Given the description of an element on the screen output the (x, y) to click on. 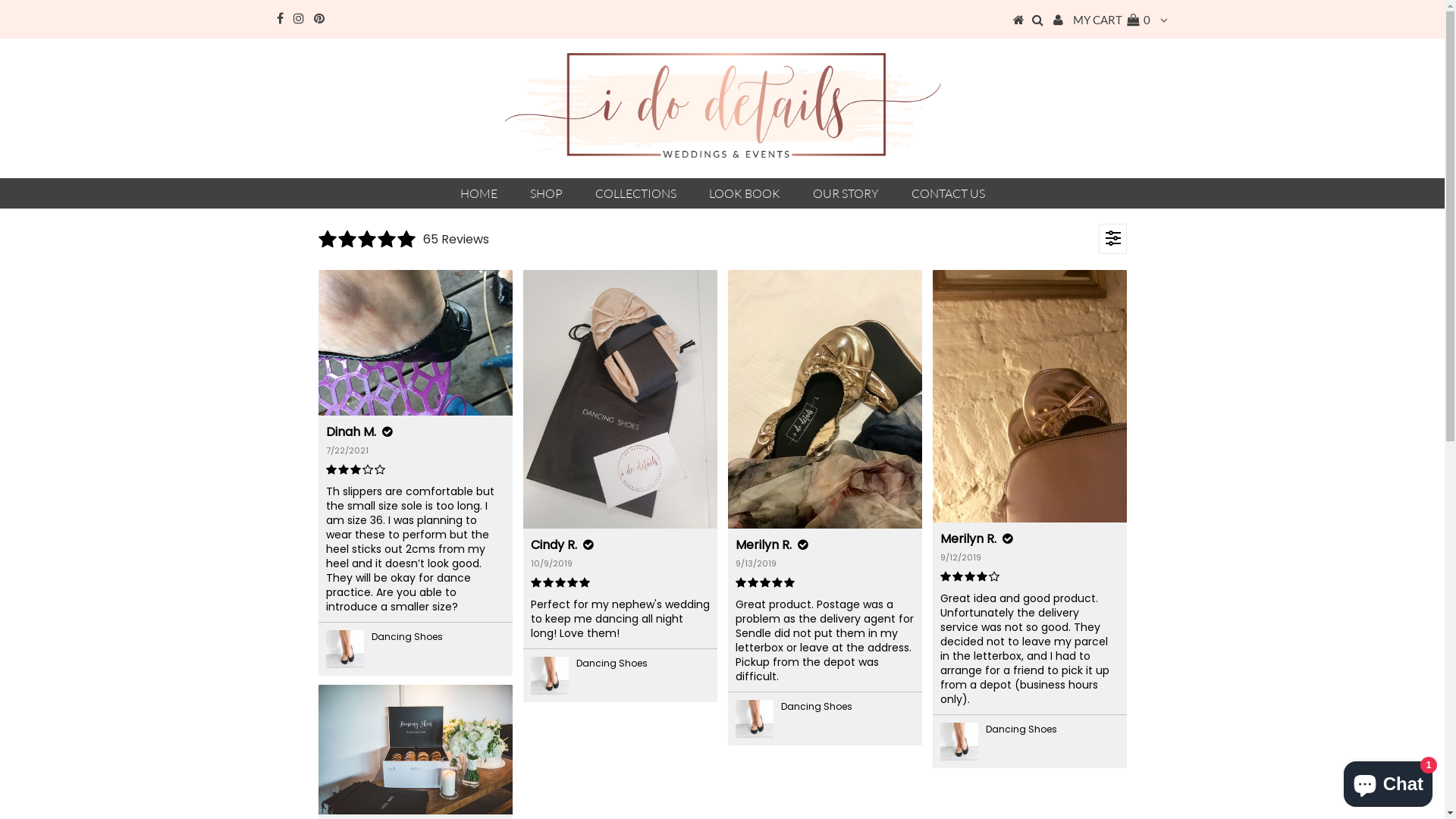
HOME Element type: text (477, 193)
Shopify online store chat Element type: hover (1388, 780)
CONTACT US Element type: text (948, 193)
MY CART    0 Element type: text (1111, 19)
LOOK BOOK Element type: text (743, 193)
OUR STORY Element type: text (845, 193)
SHOP Element type: text (545, 193)
COLLECTIONS Element type: text (634, 193)
